Given the description of an element on the screen output the (x, y) to click on. 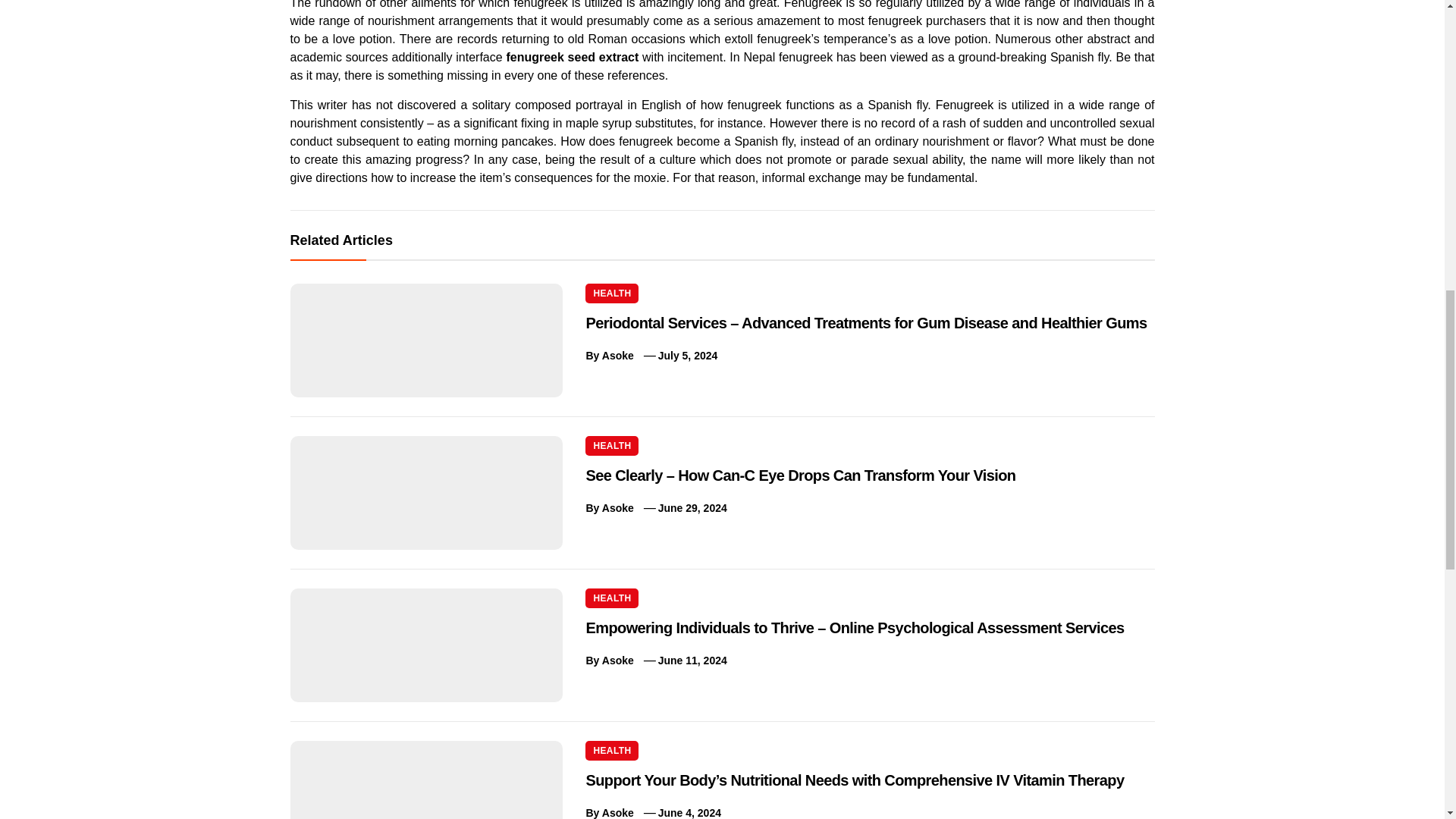
HEALTH (612, 750)
Asoke (617, 355)
HEALTH (612, 293)
July 5, 2024 (687, 355)
HEALTH (612, 598)
HEALTH (612, 445)
fenugreek seed extract (572, 56)
Asoke (617, 660)
June 11, 2024 (692, 660)
Asoke (617, 508)
Asoke (617, 812)
June 29, 2024 (692, 508)
